Given the description of an element on the screen output the (x, y) to click on. 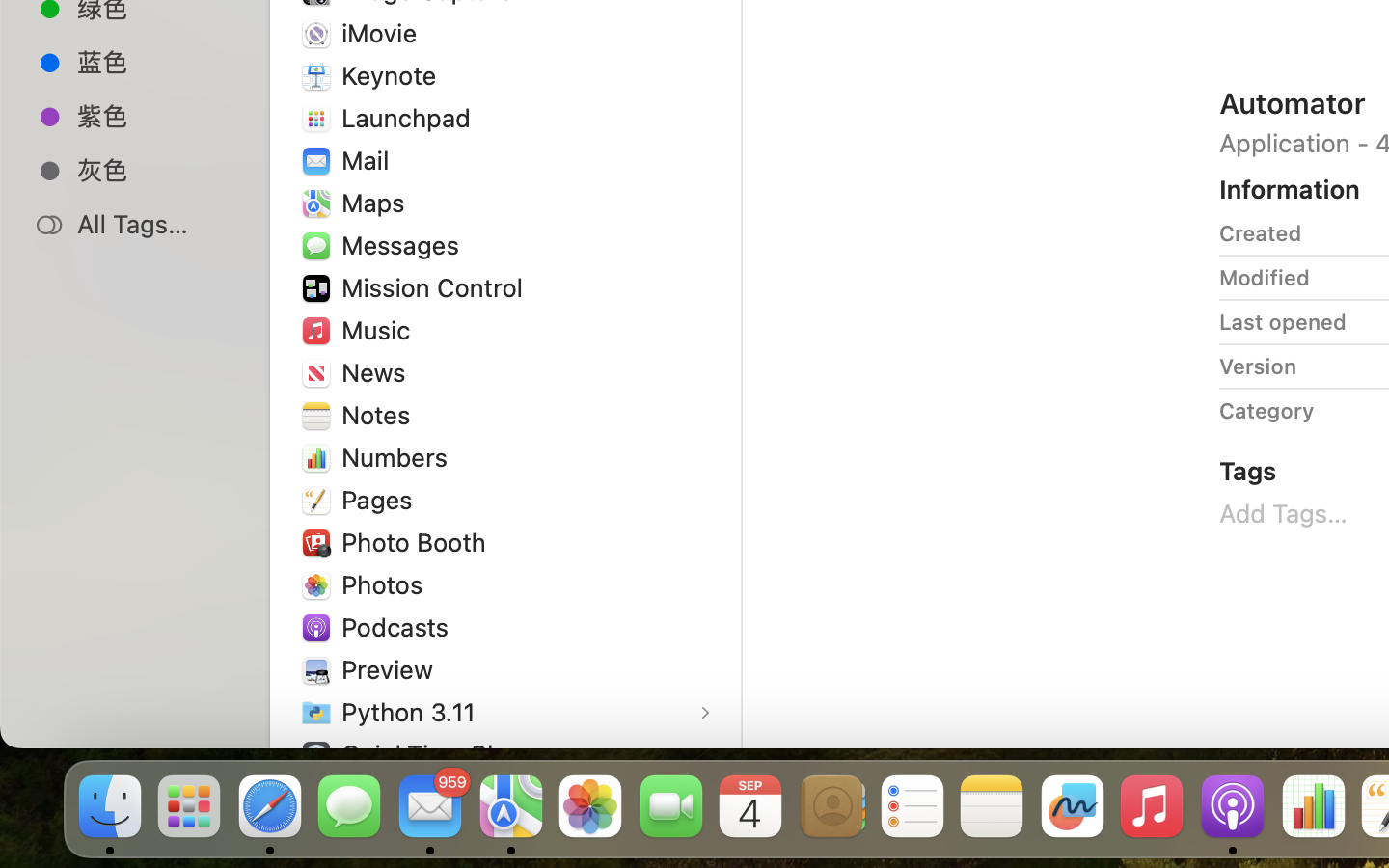
Last opened Element type: AXStaticText (1282, 321)
News Element type: AXTextField (377, 371)
Created Element type: AXStaticText (1260, 232)
Mission Control Element type: AXTextField (436, 286)
